Given the description of an element on the screen output the (x, y) to click on. 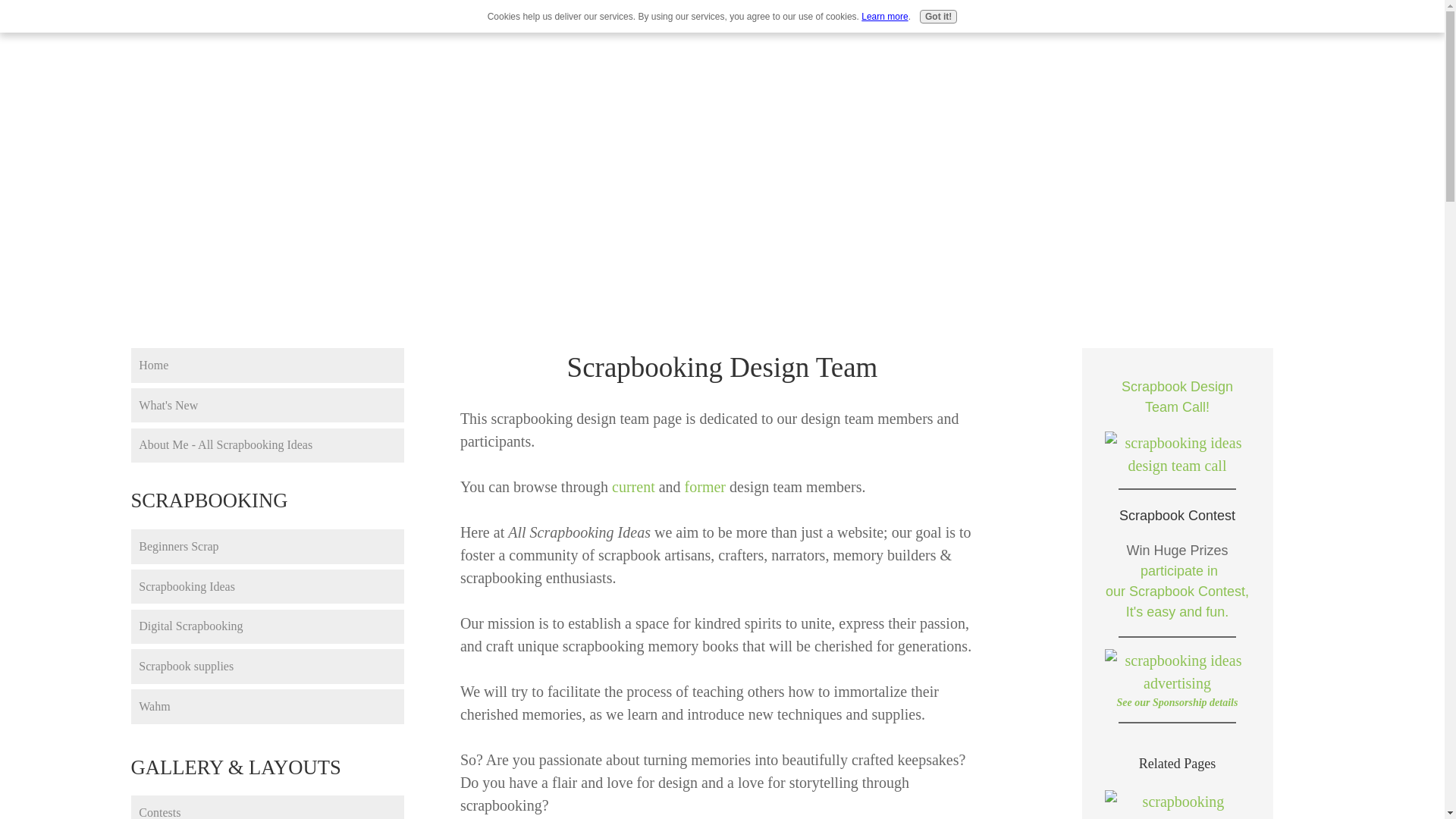
ABOUT ME - ALL SCRAPBOOKING IDEAS (441, 20)
former (706, 486)
PRIVACY POLICY (1151, 20)
WHAT'S NEW (278, 20)
HOME (203, 20)
DISCLAIMER (1048, 20)
scrapbooking ideas design team call (1176, 453)
scrapbooking ideas advertising (1176, 671)
ALLSCRAPBOOKINGIDEAS.COM (721, 149)
Go to Scrapbooking Design Team Call (1176, 465)
